Given the description of an element on the screen output the (x, y) to click on. 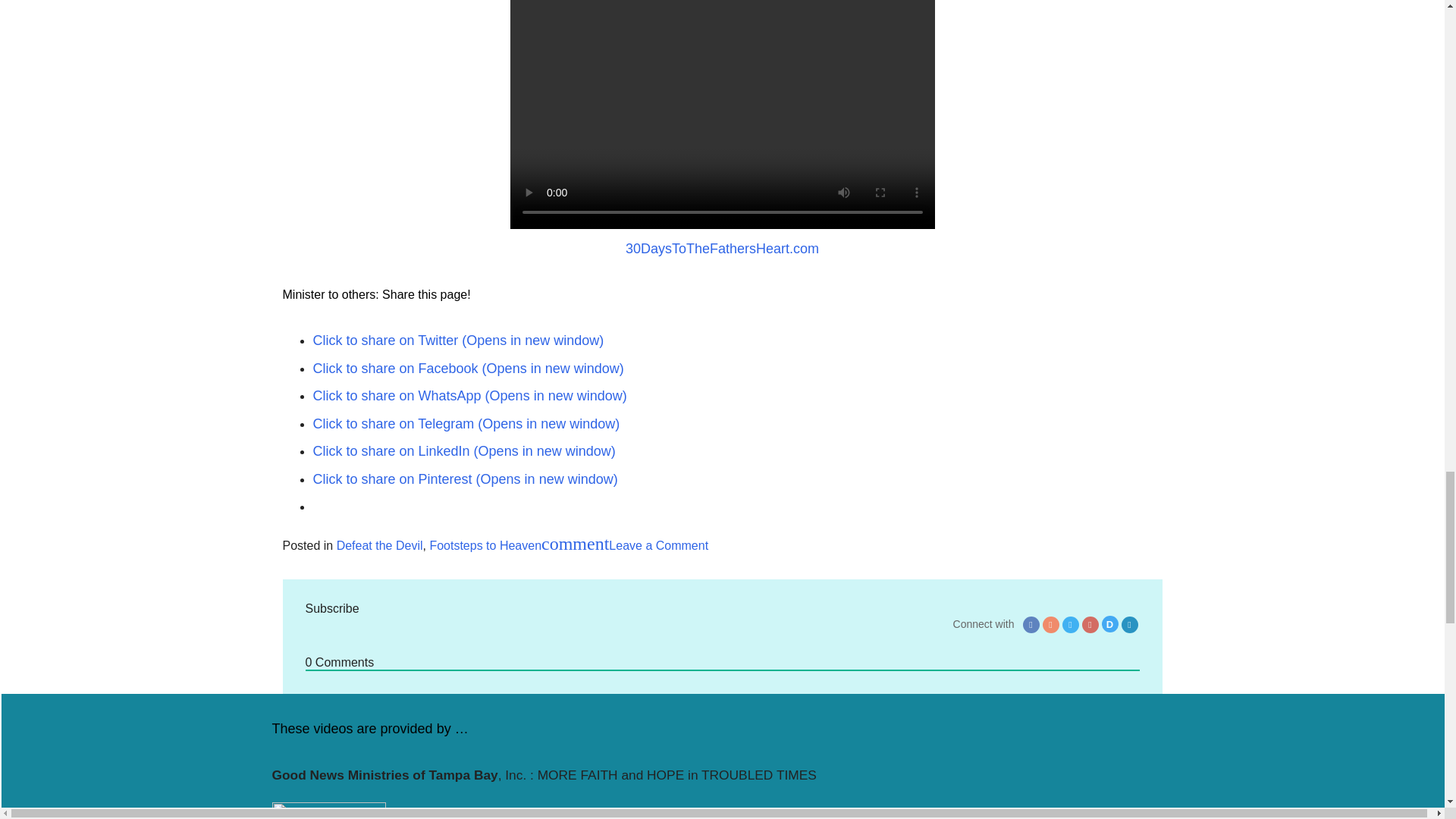
Click to share on WhatsApp (469, 395)
Click to share on Twitter (458, 340)
Click to share on LinkedIn (463, 450)
Click to share on Telegram (466, 423)
Click to share on Pinterest (465, 478)
Click to share on Facebook (468, 368)
